Given the description of an element on the screen output the (x, y) to click on. 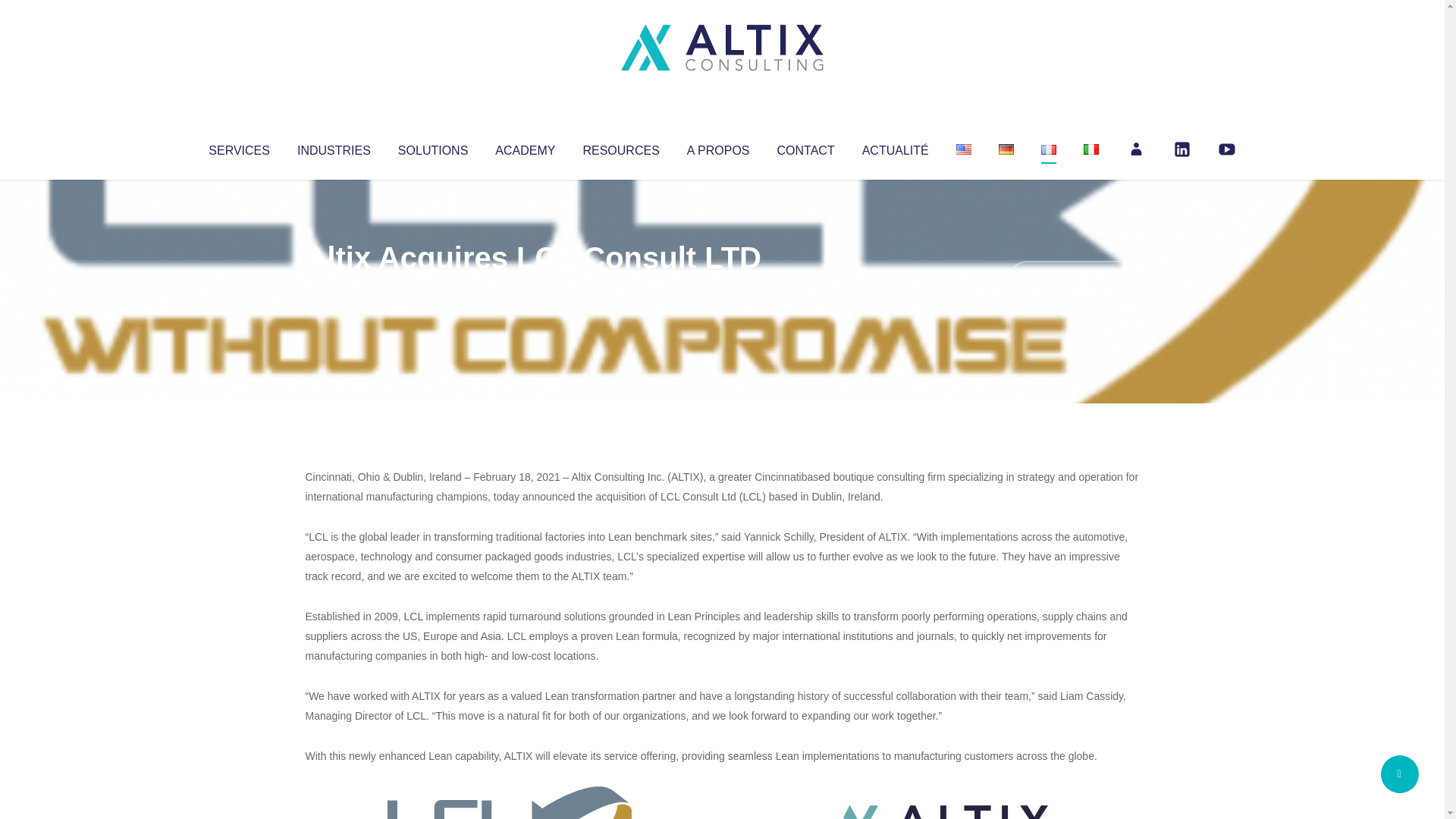
RESOURCES (620, 146)
INDUSTRIES (334, 146)
No Comments (1073, 278)
ACADEMY (524, 146)
A PROPOS (718, 146)
SERVICES (238, 146)
SOLUTIONS (432, 146)
Articles par Altix (333, 287)
Altix (333, 287)
Uncategorized (530, 287)
